Given the description of an element on the screen output the (x, y) to click on. 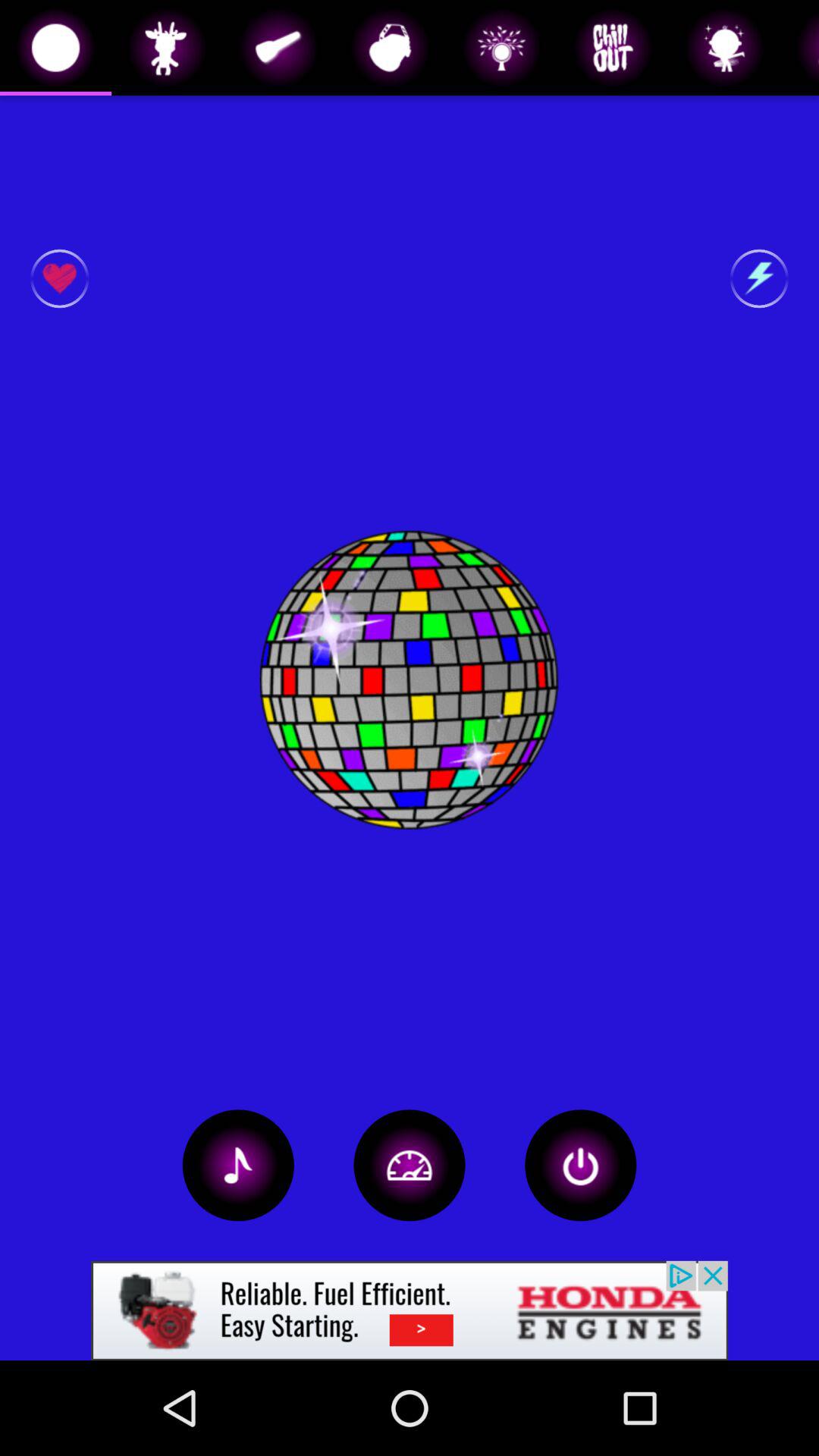
go to advertisement website (409, 1310)
